Given the description of an element on the screen output the (x, y) to click on. 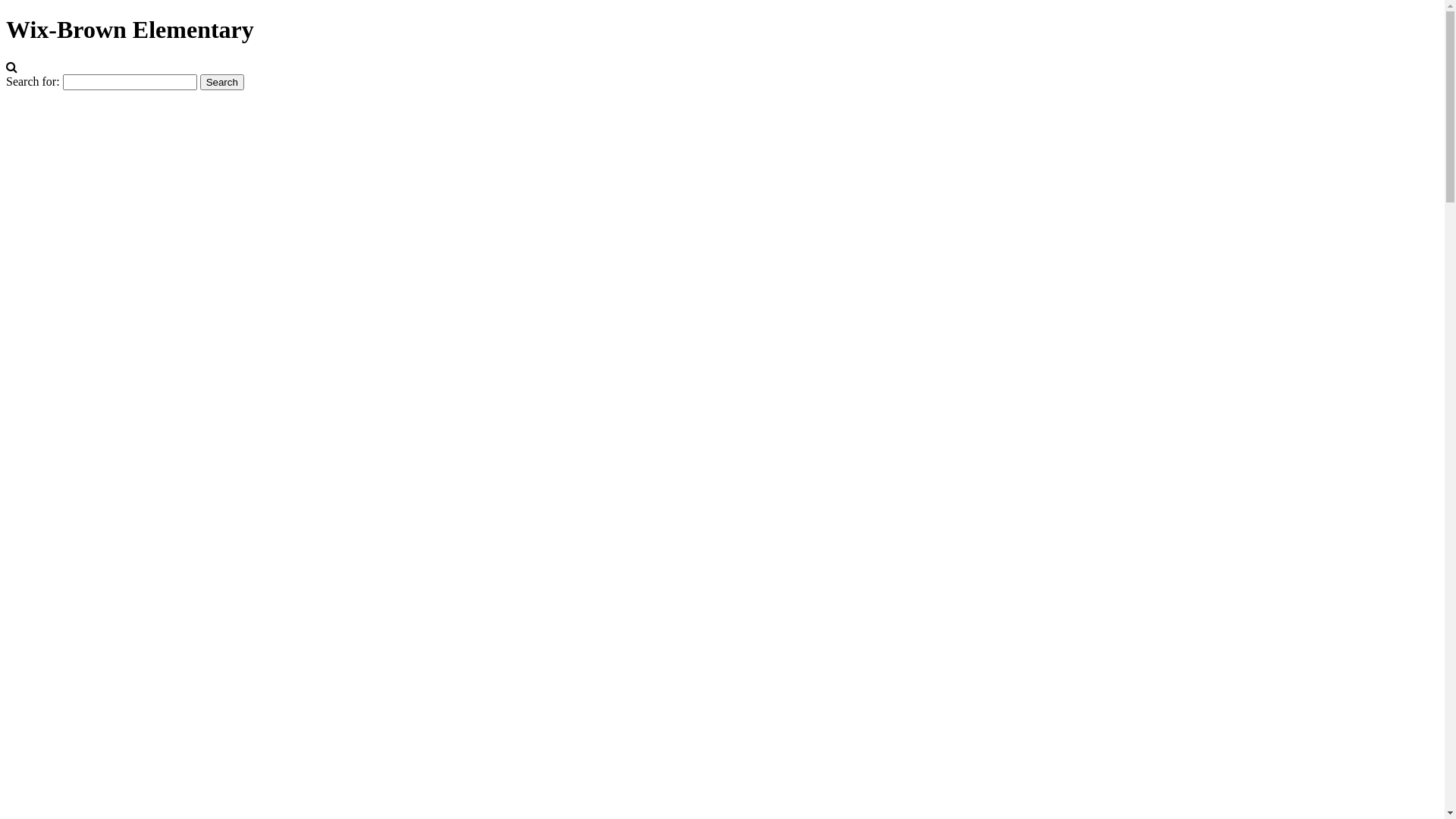
Search Element type: text (222, 82)
